Given the description of an element on the screen output the (x, y) to click on. 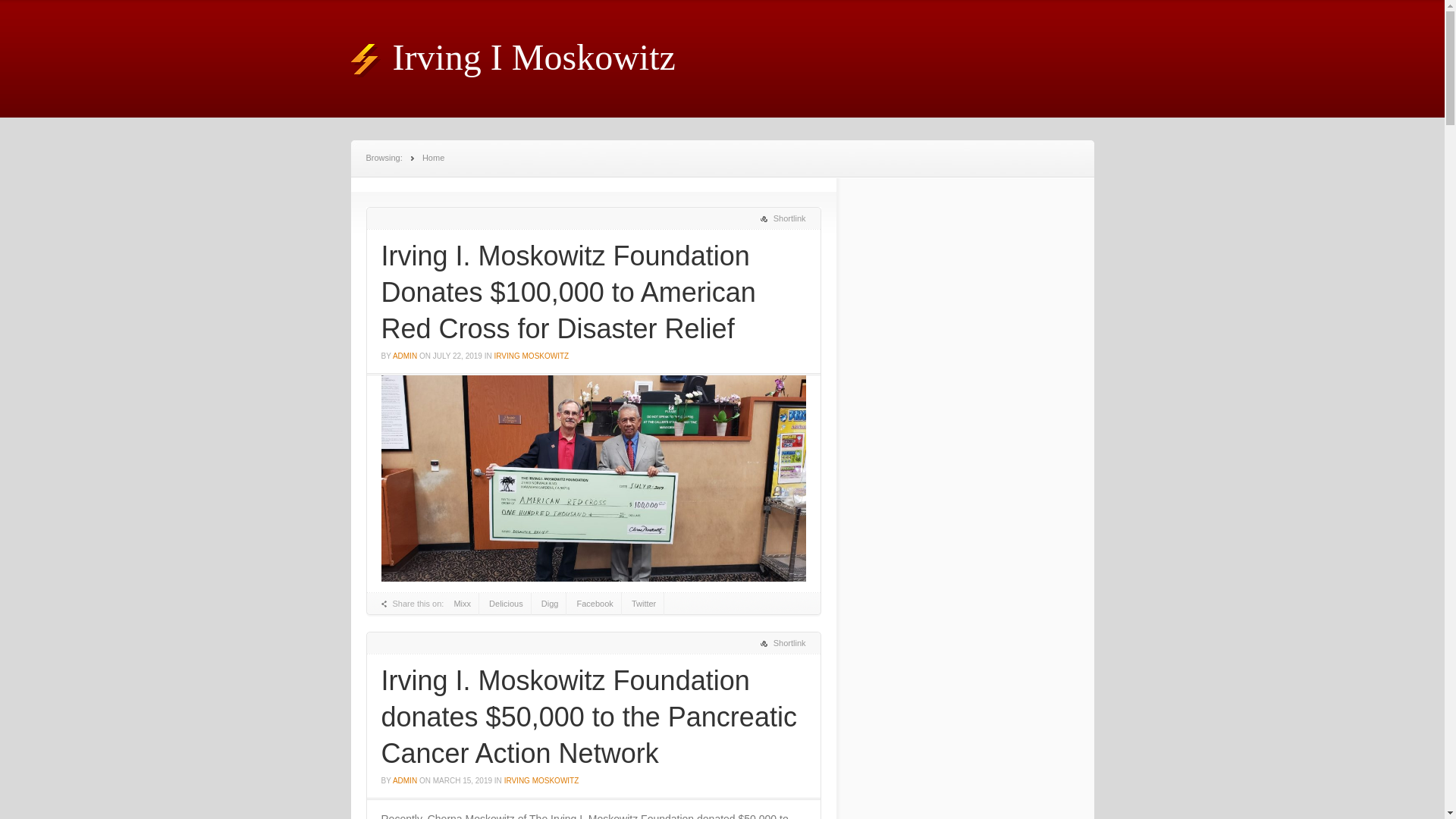
Share this entry on Twitter (643, 603)
Twitter (643, 603)
Monday, July 22nd, 2019, 5:44 pm (456, 356)
ADMIN (404, 780)
Shortlink (783, 217)
IRVING MOSKOWITZ (541, 780)
Irving I Moskowitz (512, 56)
Irving I Moskowitz (512, 56)
IRVING MOSKOWITZ (531, 356)
Digg (550, 603)
